Given the description of an element on the screen output the (x, y) to click on. 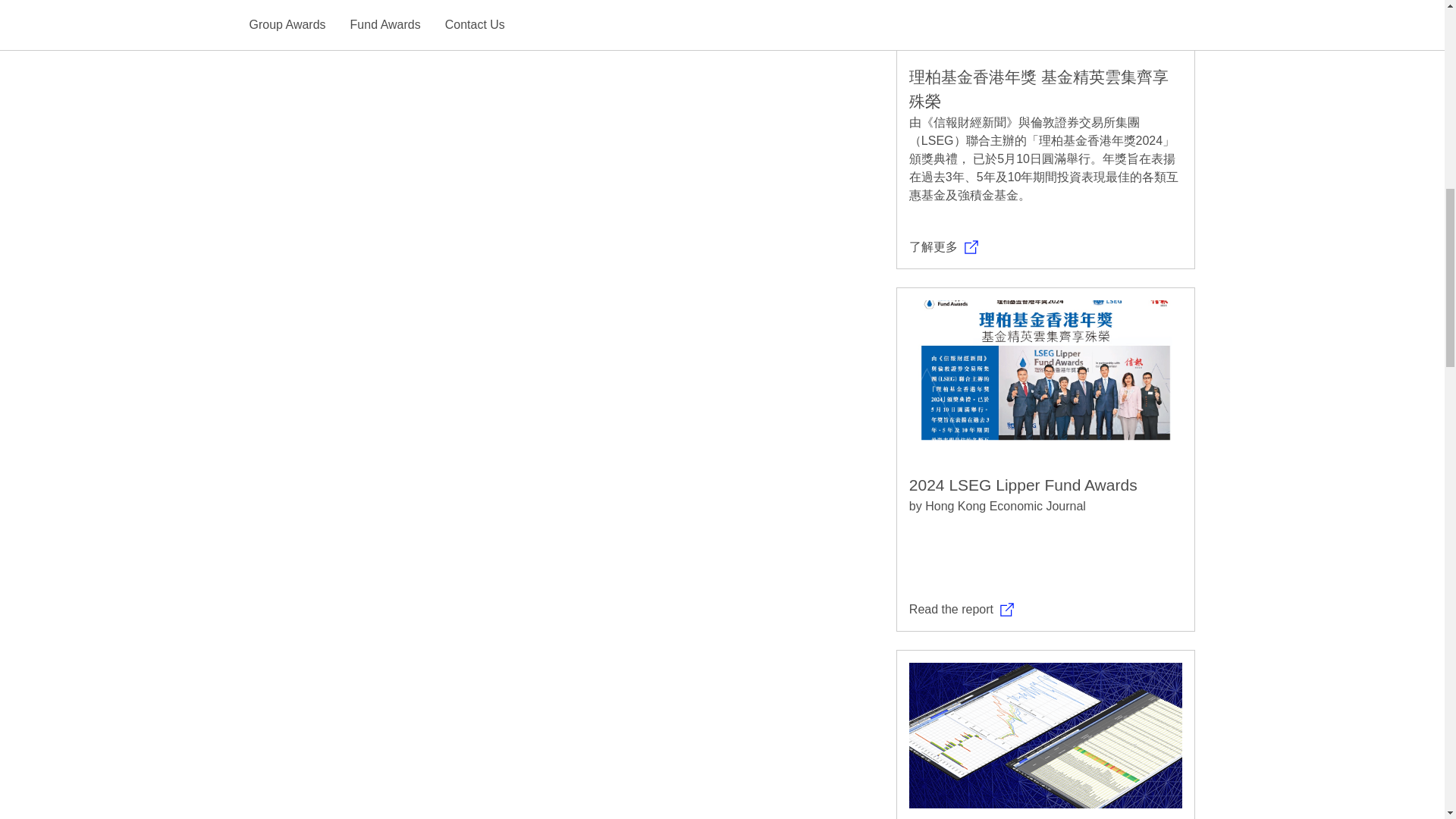
external (1006, 609)
external (970, 246)
